Given the description of an element on the screen output the (x, y) to click on. 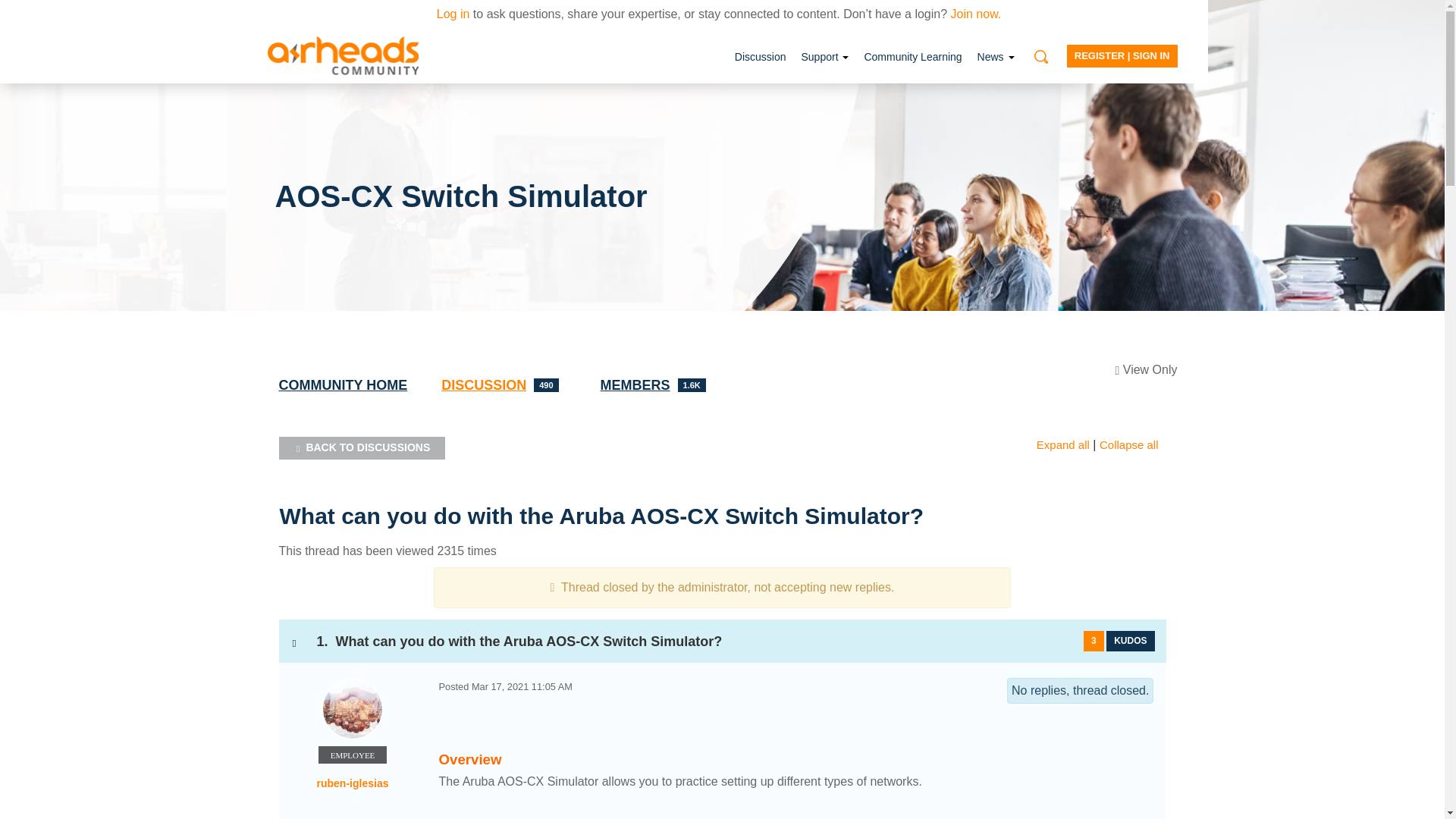
Discussion (656, 385)
ruben-iglesias (759, 56)
Community Learning (352, 709)
News (503, 385)
Recommend this item. (912, 56)
Join now. (995, 56)
Nbr of recommenders (1130, 640)
Log in (975, 13)
Support (1093, 640)
BACK TO DISCUSSIONS (453, 13)
COMMUNITY HOME (824, 56)
Expand all (362, 447)
